Given the description of an element on the screen output the (x, y) to click on. 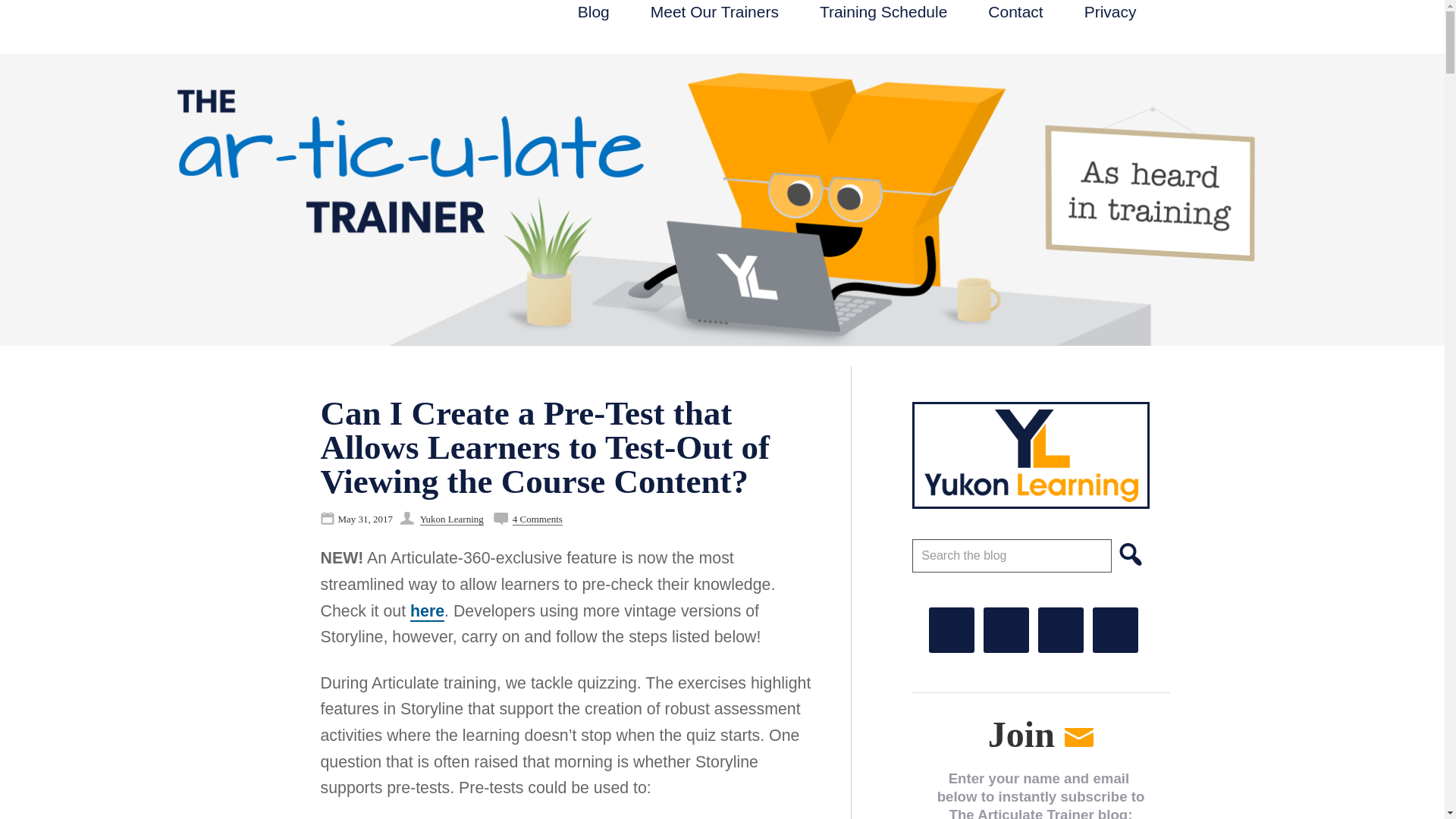
Visit Yukon Learning (1032, 455)
Training Schedule (884, 12)
Contact (1015, 12)
4 Comments (537, 519)
Meet Our Trainers (713, 12)
Blog (593, 12)
Privacy (1109, 12)
here (427, 611)
Yukon Learning (451, 519)
